Given the description of an element on the screen output the (x, y) to click on. 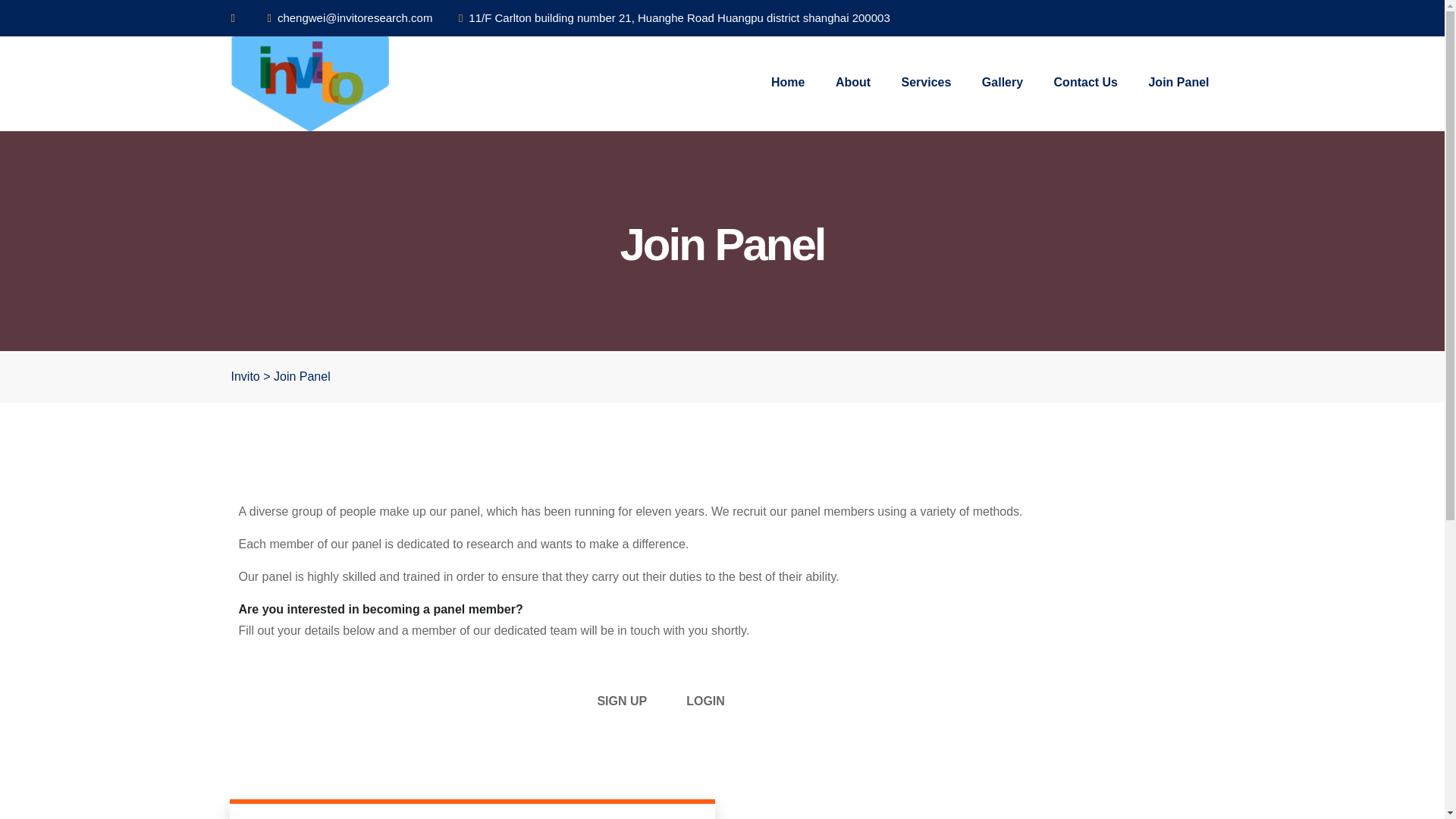
Gallery (1002, 82)
Go to Invito. (244, 376)
About (852, 82)
Contact Us (1086, 82)
Gallery (1002, 82)
Contact Us (1086, 82)
Invito (244, 376)
Join Panel (1178, 82)
About (852, 82)
